Given the description of an element on the screen output the (x, y) to click on. 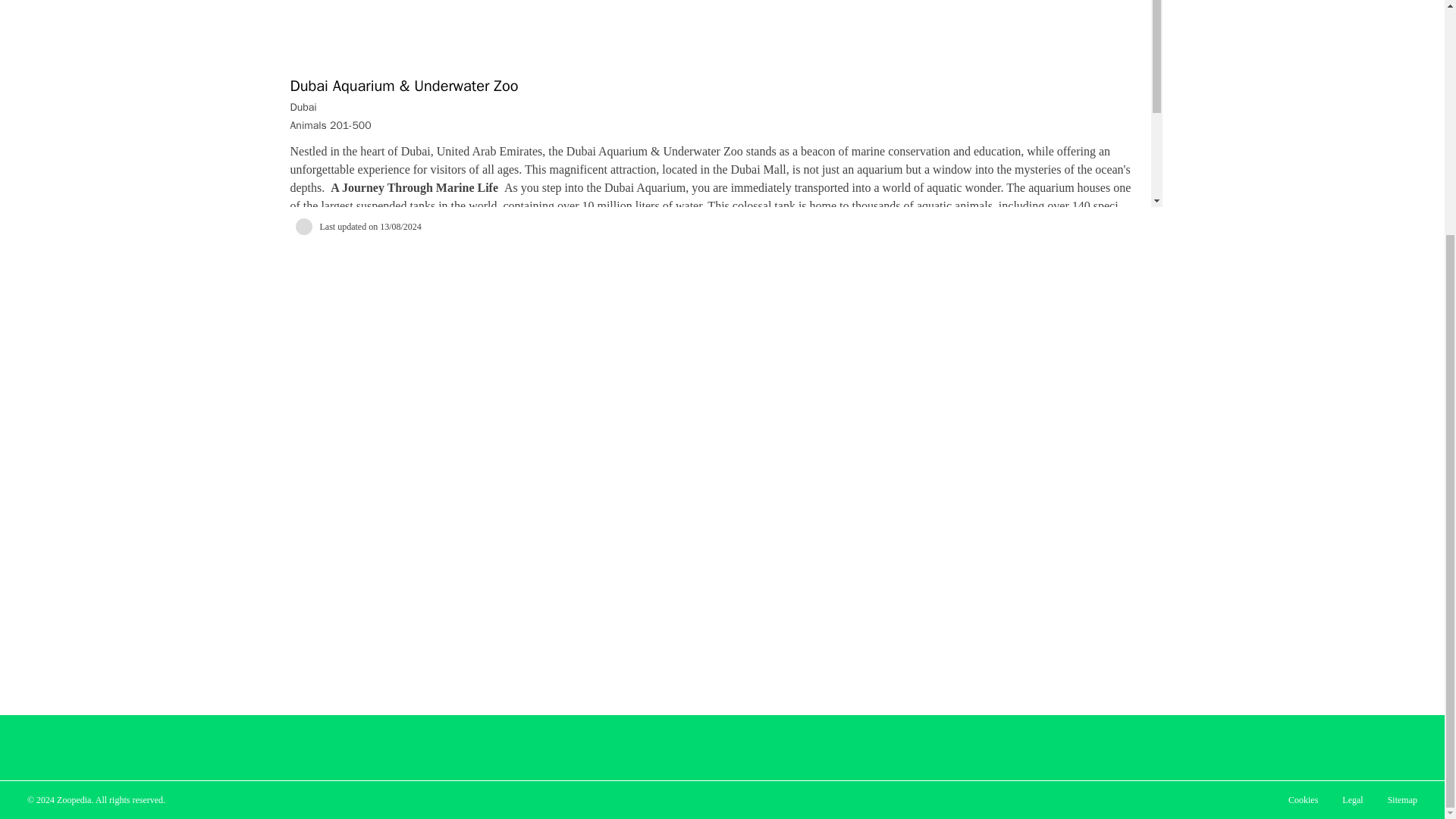
Legal (1352, 799)
Sitemap (1402, 799)
Cookies (1303, 799)
